Given the description of an element on the screen output the (x, y) to click on. 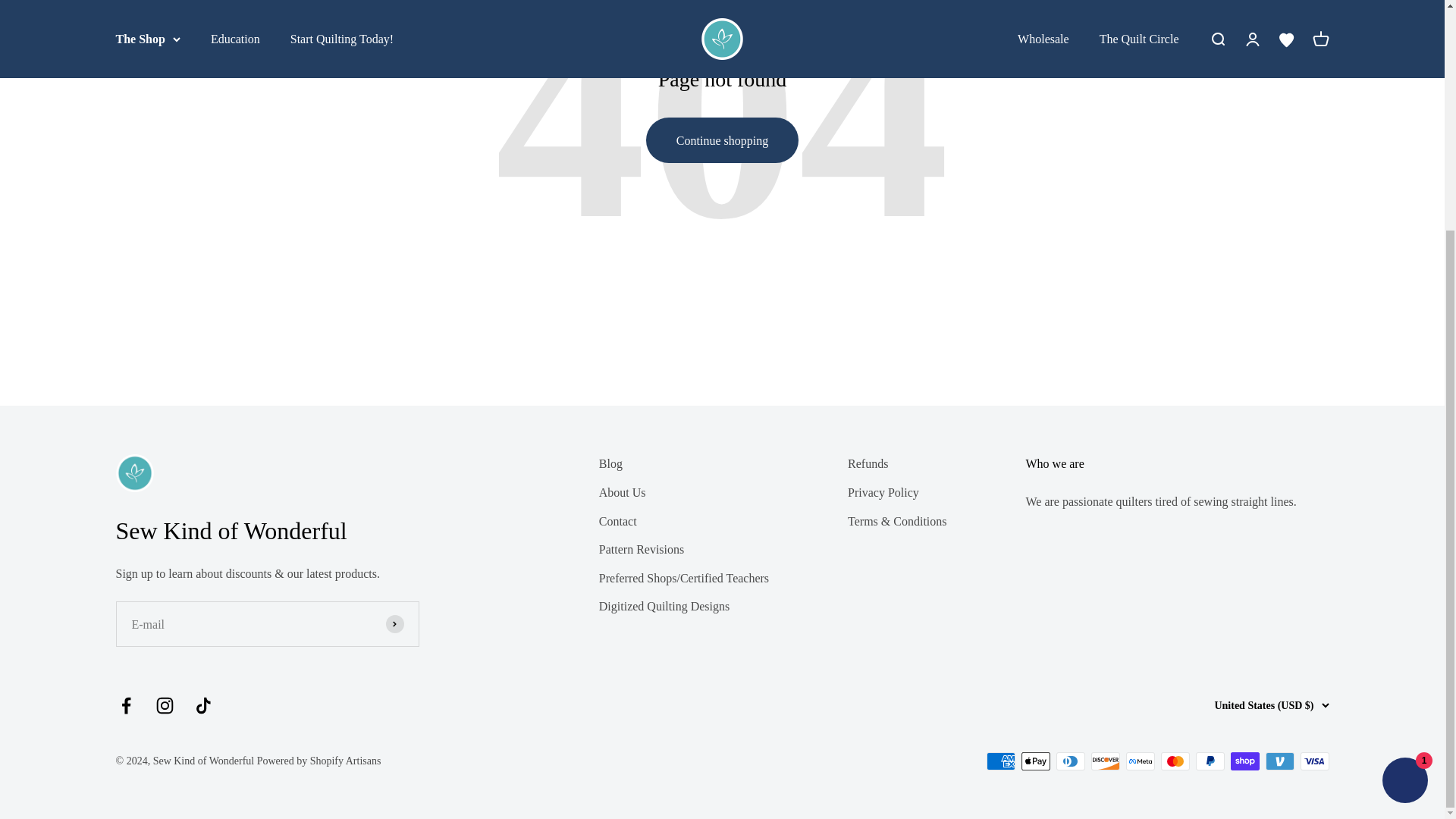
Continue shopping (721, 139)
Shopify online store chat (1404, 471)
